Given the description of an element on the screen output the (x, y) to click on. 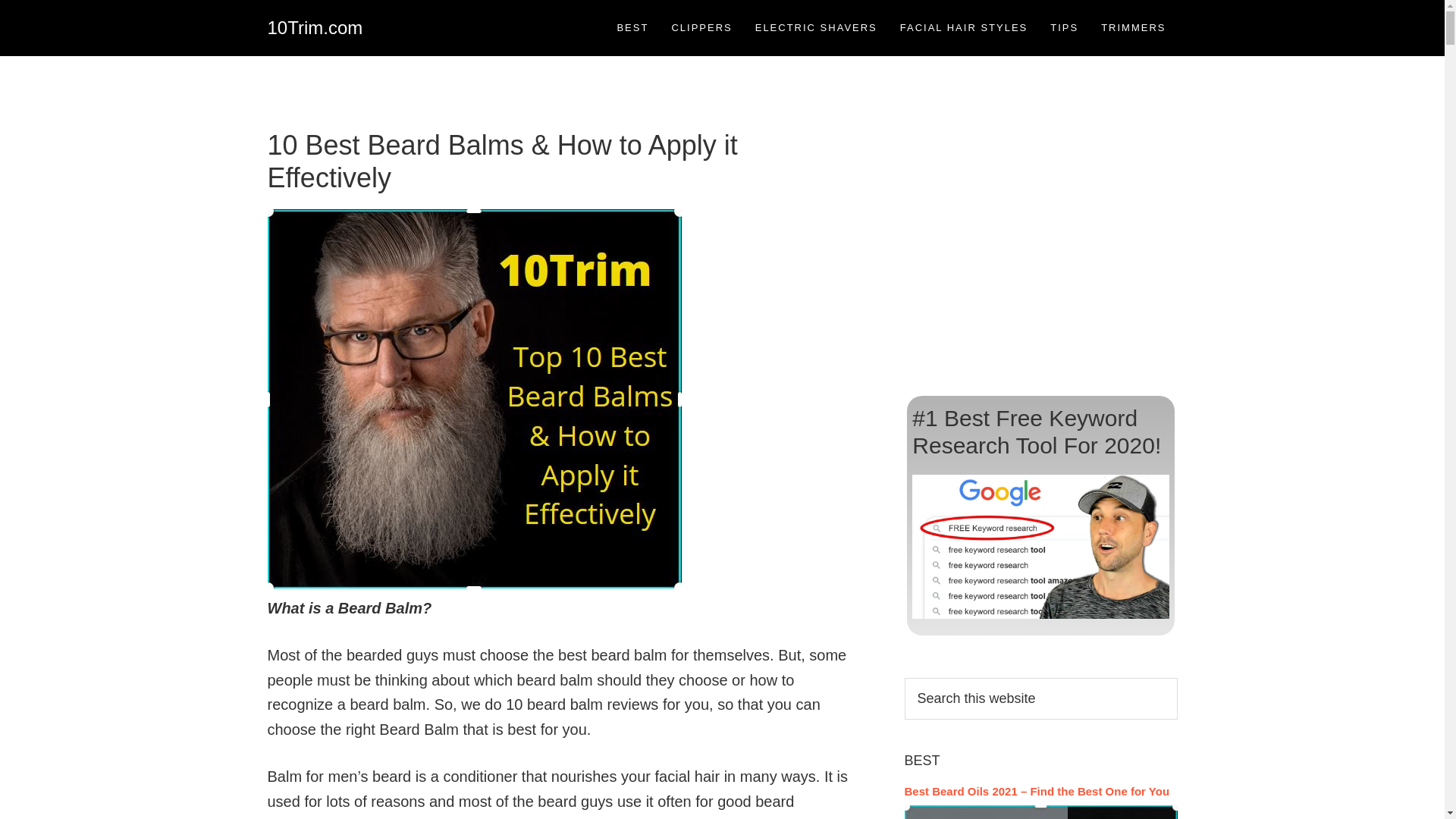
Advertisement Element type: hover (1039, 240)
CLIPPERS Element type: text (701, 27)
#1 Best Free Keyword Research Tool For 2020! Element type: text (1036, 431)
10Trim.com Element type: text (314, 27)
FACIAL HAIR STYLES Element type: text (963, 27)
TIPS Element type: text (1063, 27)
BEST Element type: text (632, 27)
#1 Best Free Keyword Research Tool For 2020! Element type: hover (1040, 546)
Skip to primary navigation Element type: text (0, 0)
Search Element type: text (1176, 677)
TRIMMERS Element type: text (1132, 27)
ELECTRIC SHAVERS Element type: text (815, 27)
